Given the description of an element on the screen output the (x, y) to click on. 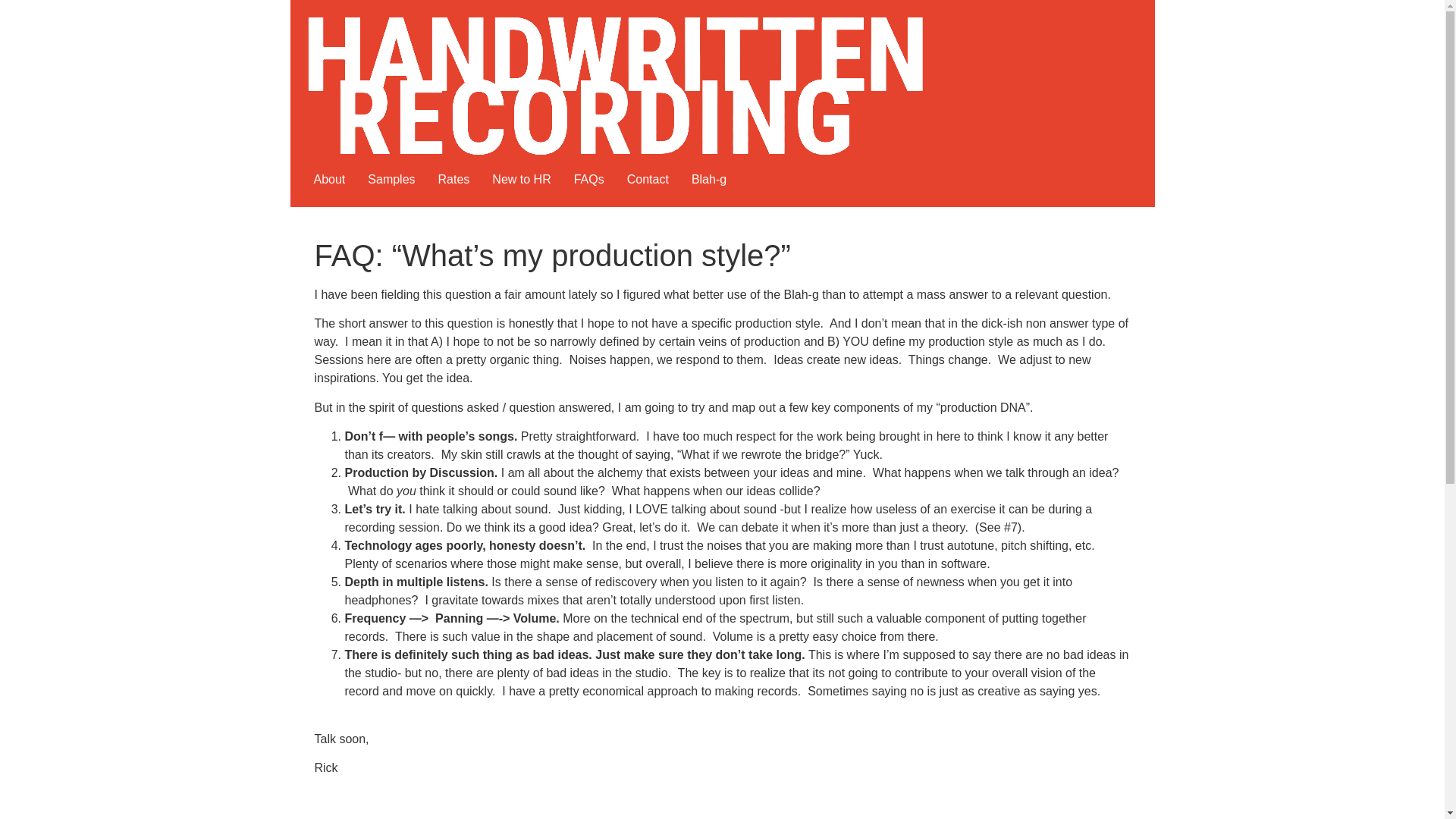
Samples (391, 179)
Contact (647, 179)
FAQs (588, 179)
Blah-g (708, 179)
New to HR (521, 179)
About (328, 179)
Rates (453, 179)
